Given the description of an element on the screen output the (x, y) to click on. 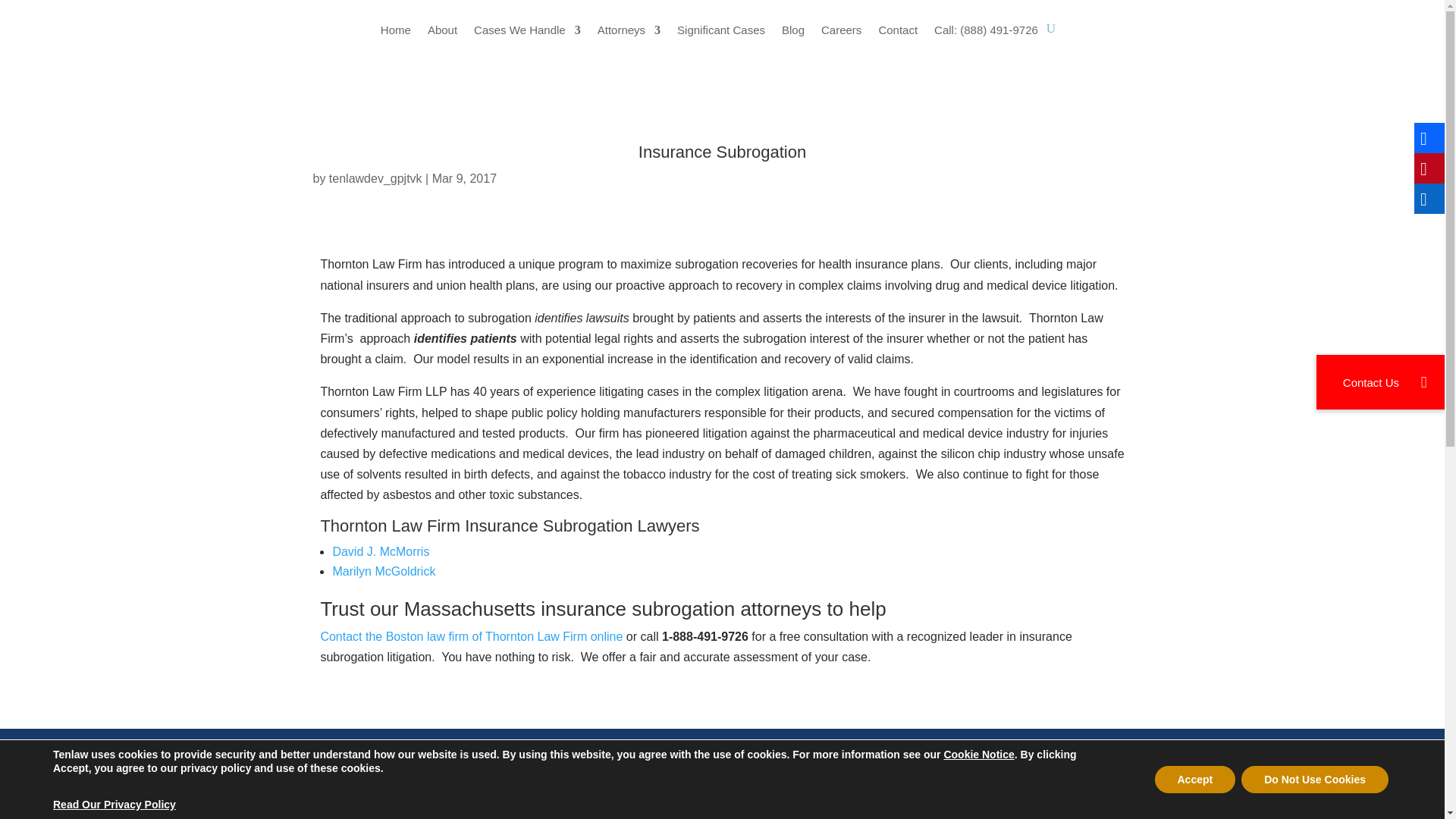
David J. McMorris (380, 551)
Home (395, 41)
Cases We Handle (527, 41)
About (442, 41)
Attorneys (628, 41)
Marilyn T. McGoldrick (383, 571)
